Given the description of an element on the screen output the (x, y) to click on. 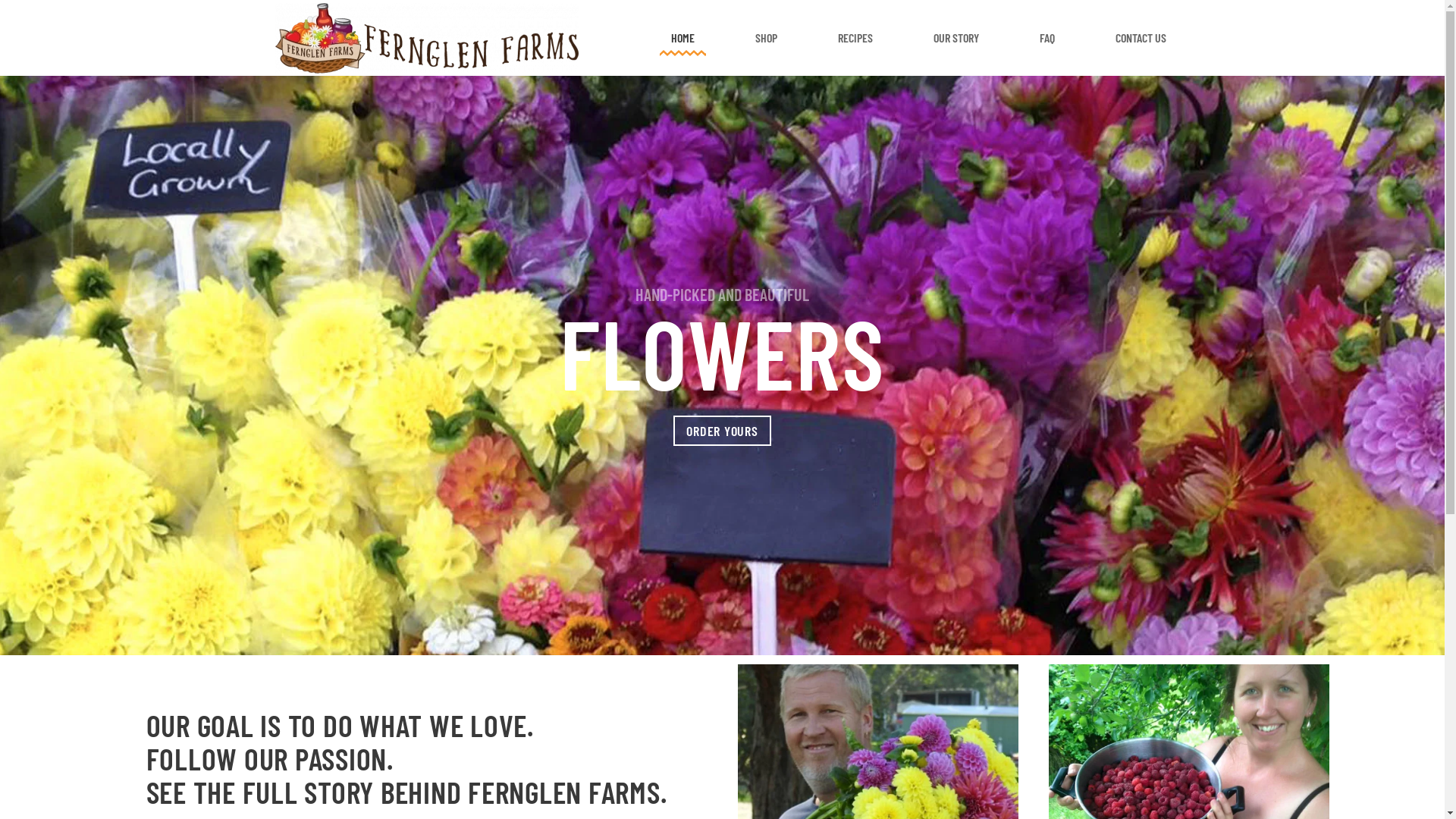
SHOP Element type: text (765, 37)
OUR STORY Element type: text (956, 37)
CONTACT US Element type: text (1140, 37)
FAQ Element type: text (1047, 37)
HOME Element type: text (682, 37)
ORDER YOURS Element type: text (721, 430)
RECIPES Element type: text (855, 37)
